Given the description of an element on the screen output the (x, y) to click on. 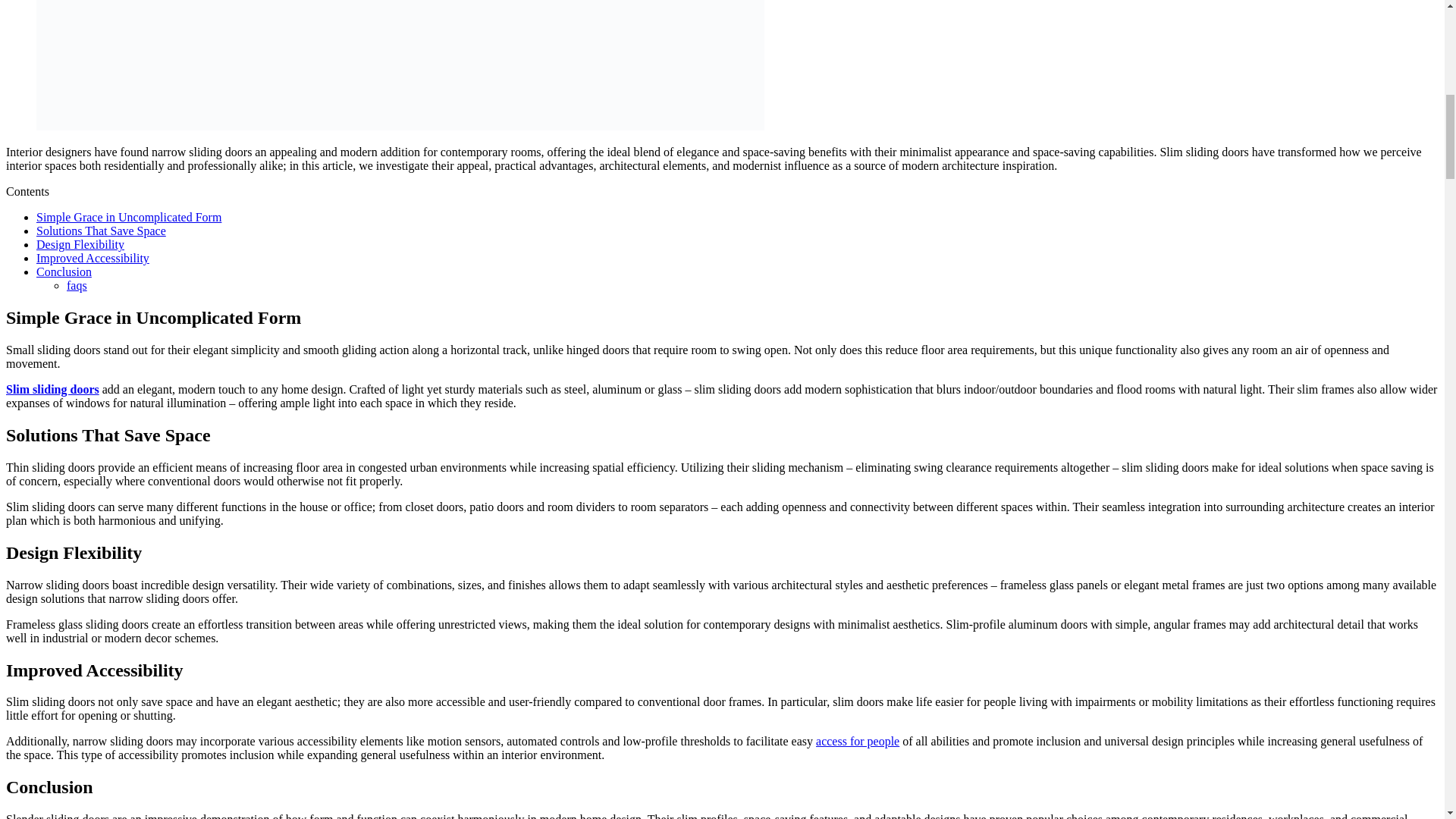
Conclusion (63, 271)
Solutions That Save Space (100, 230)
Simple Grace in Uncomplicated Form (128, 216)
access for people (857, 740)
Design Flexibility (79, 244)
faqs (76, 285)
Slim sliding doors (52, 389)
Improved Accessibility (92, 257)
